Given the description of an element on the screen output the (x, y) to click on. 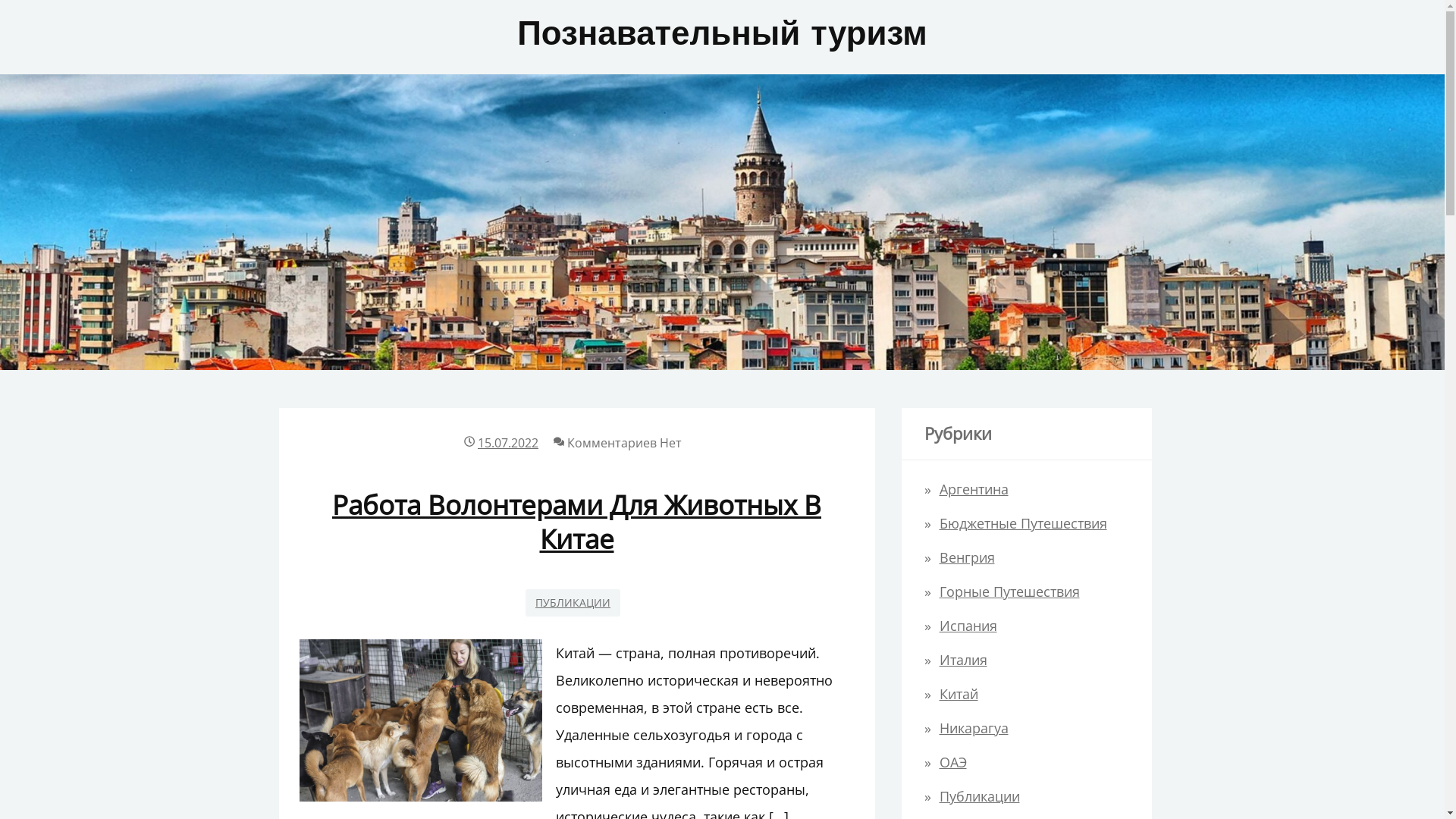
15.07.2022 Element type: text (507, 442)
